Given the description of an element on the screen output the (x, y) to click on. 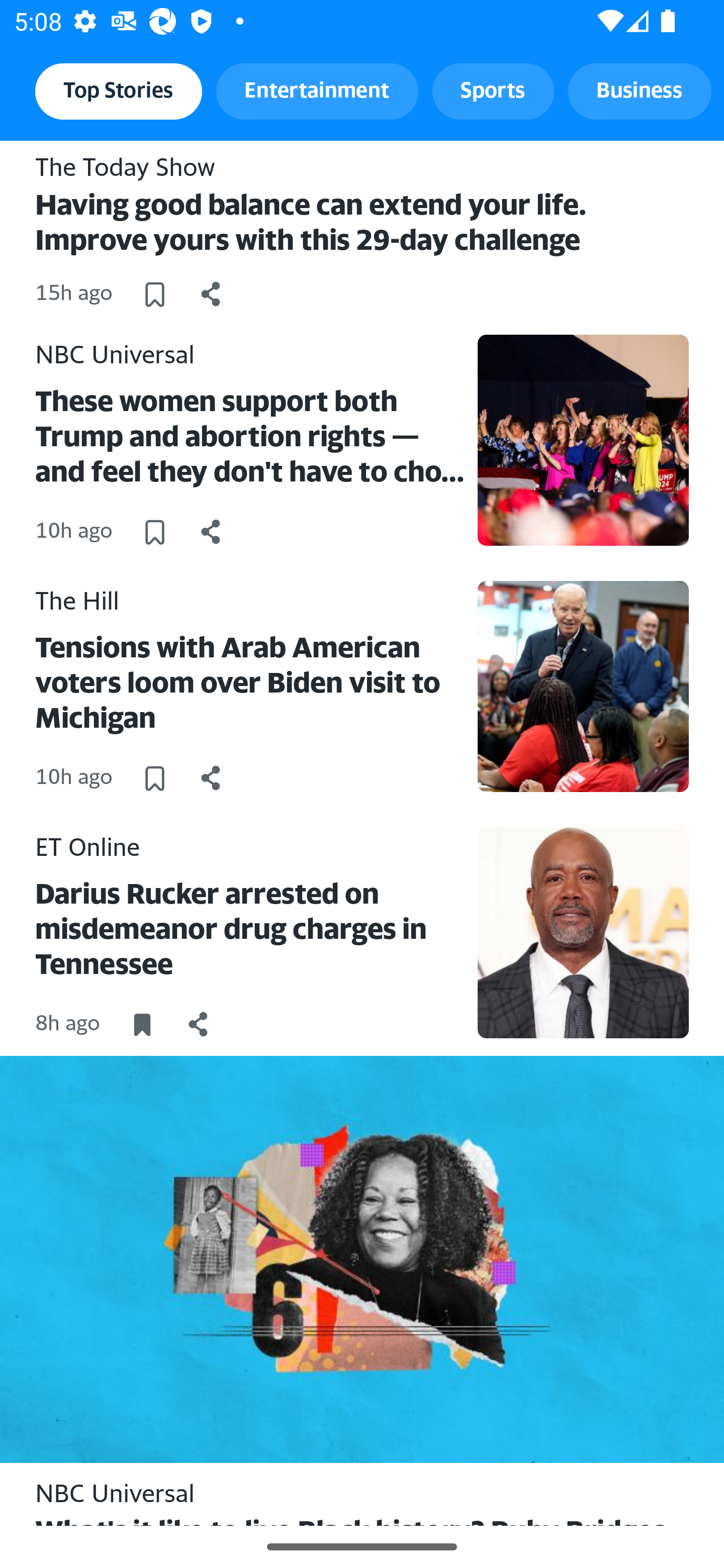
Entertainment (317, 90)
Sports (492, 90)
Business (639, 90)
Save this article (154, 293)
Share this news article (210, 293)
Save this article (154, 531)
Share this news article (210, 531)
Save this article (154, 777)
Share this news article (210, 777)
Remove this article from your saved list (142, 1023)
Share this news article (198, 1023)
